Given the description of an element on the screen output the (x, y) to click on. 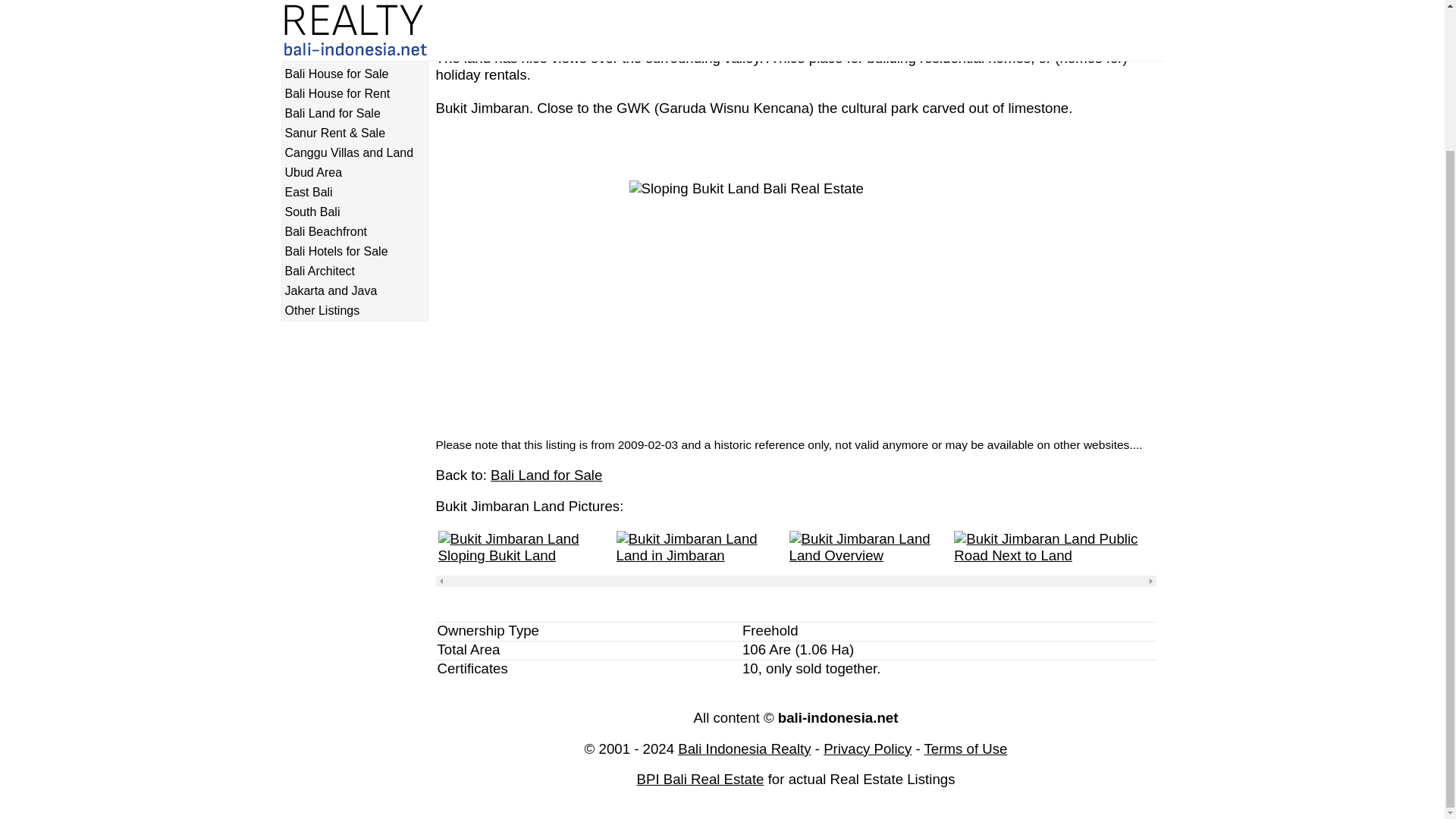
Terms of Use (965, 748)
Bali Villas for Sale (354, 34)
Bali Villas for Rent (354, 54)
BPI Bali Real Estate (700, 779)
Jakarta and Java (354, 291)
Bali House for Rent (354, 93)
Bali Beachfront (354, 232)
Bali House for Sale (354, 74)
Bali Indonesia Realty (744, 748)
Privacy Policy (867, 748)
Privacy Policy (965, 748)
Ubud Area (354, 172)
Bali Architect (354, 271)
East Bali (354, 192)
South Bali (354, 212)
